Given the description of an element on the screen output the (x, y) to click on. 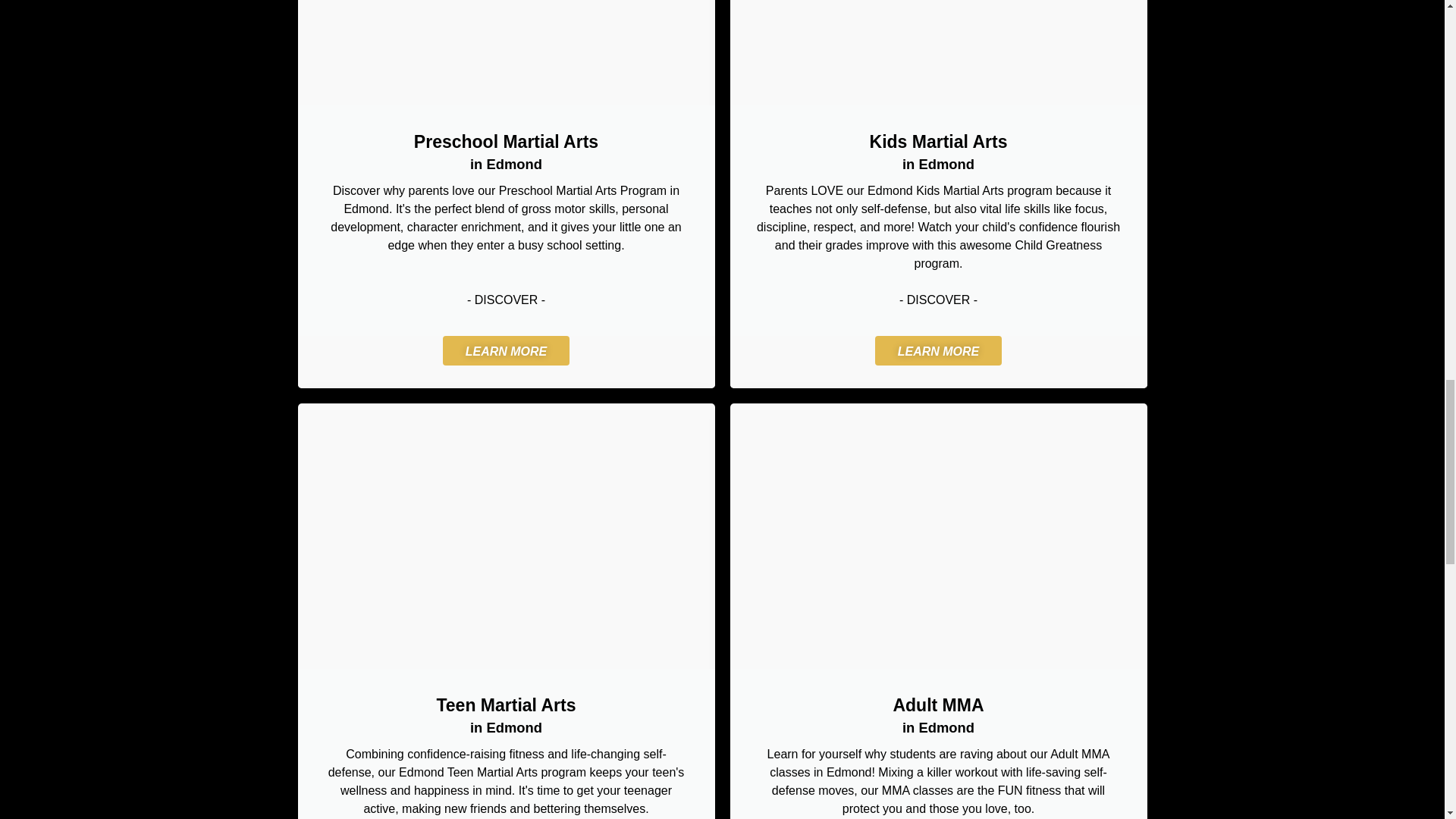
LEARN MORE (506, 350)
LEARN MORE (939, 350)
